Given the description of an element on the screen output the (x, y) to click on. 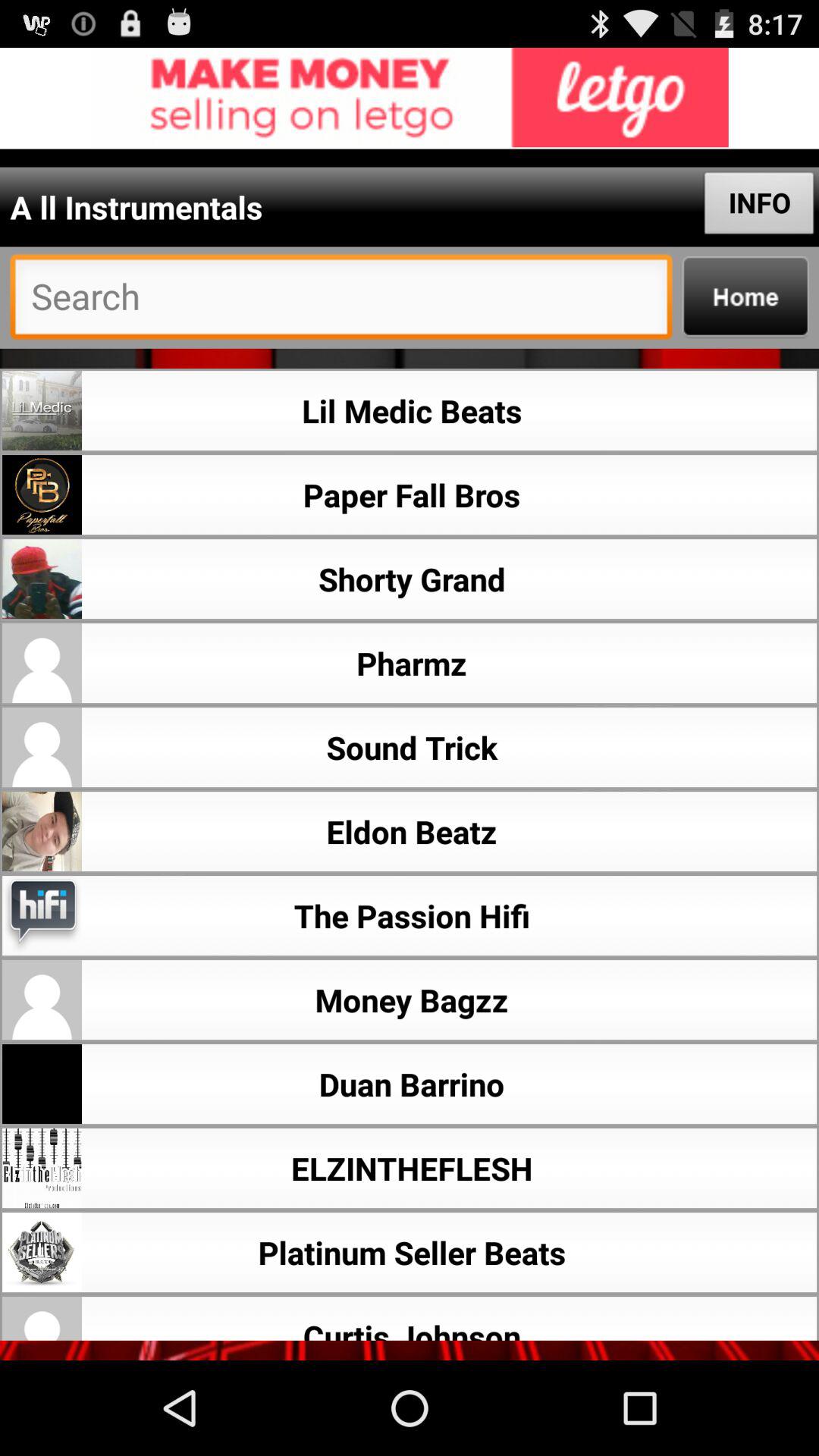
links to advertisement (409, 98)
